Given the description of an element on the screen output the (x, y) to click on. 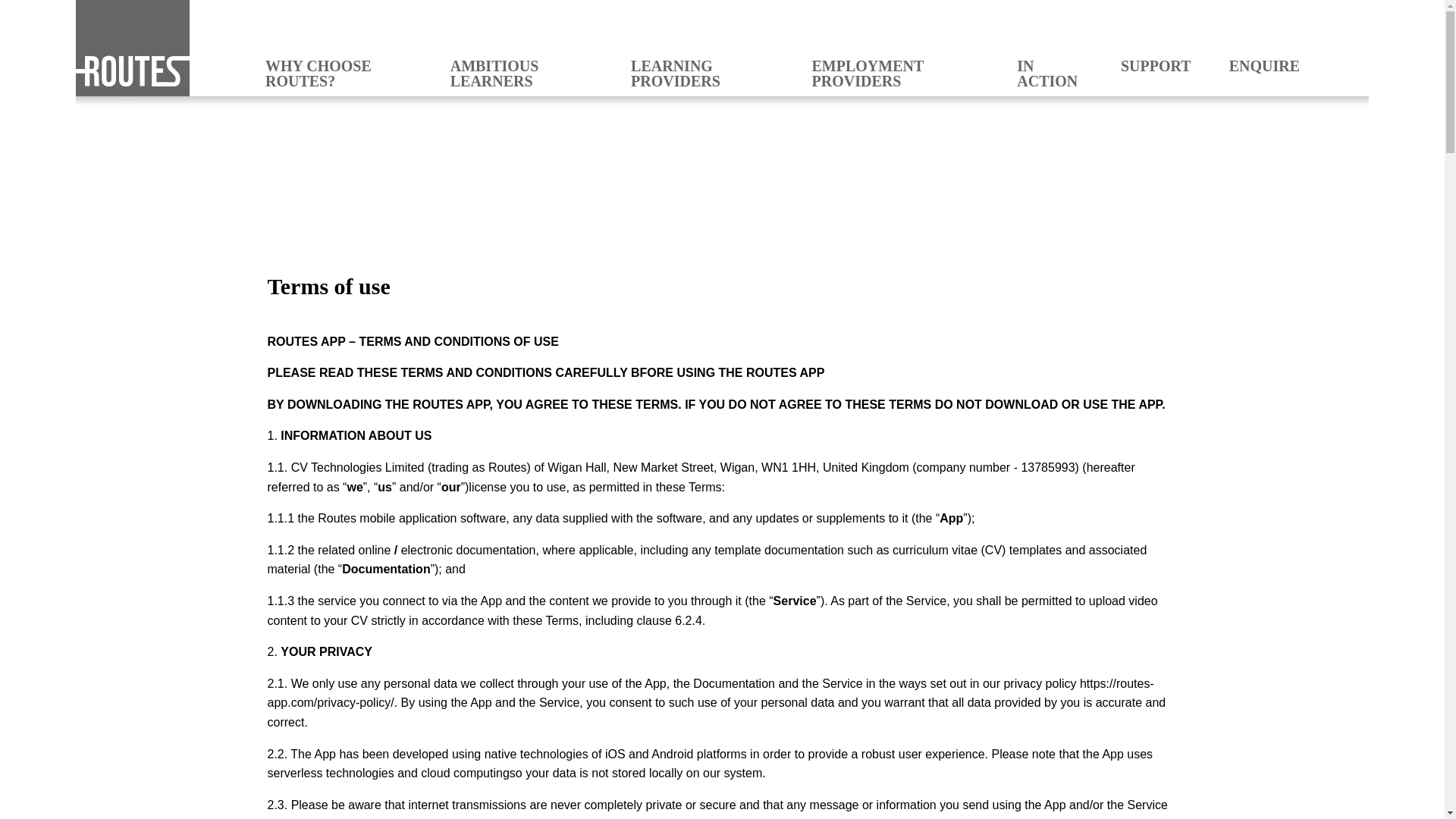
LEARNING PROVIDERS (701, 73)
WHY CHOOSE ROUTES? (338, 73)
AMBITIOUS LEARNERS (520, 73)
EMPLOYMENT PROVIDERS (894, 73)
SUPPORT (1156, 65)
